Given the description of an element on the screen output the (x, y) to click on. 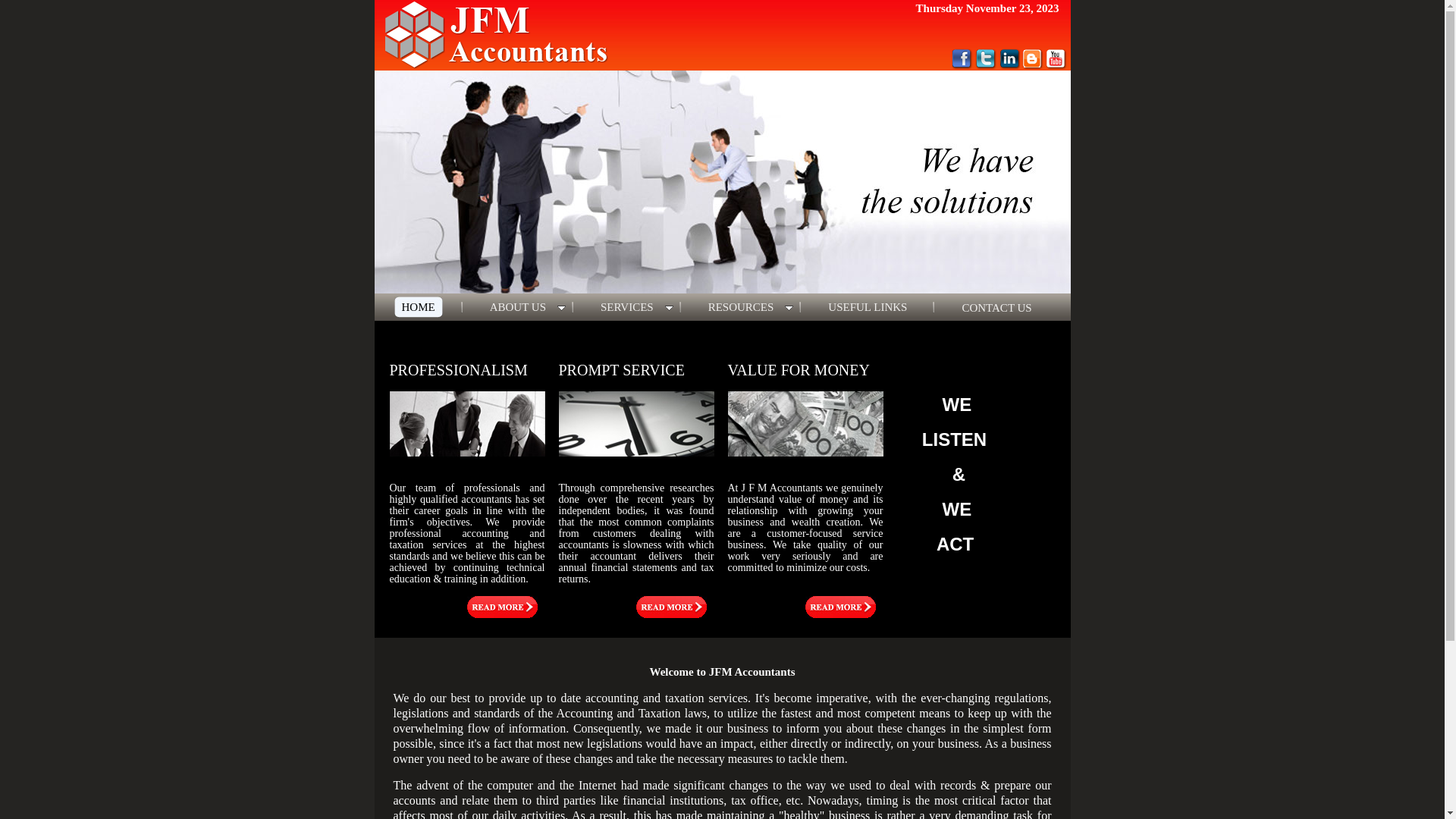
CONTACT US Element type: text (995, 307)
ABOUT US Element type: text (517, 306)
HOME Element type: text (418, 306)
USEFUL LINKS Element type: text (867, 306)
RESOURCES Element type: text (740, 306)
SERVICES Element type: text (627, 306)
